Given the description of an element on the screen output the (x, y) to click on. 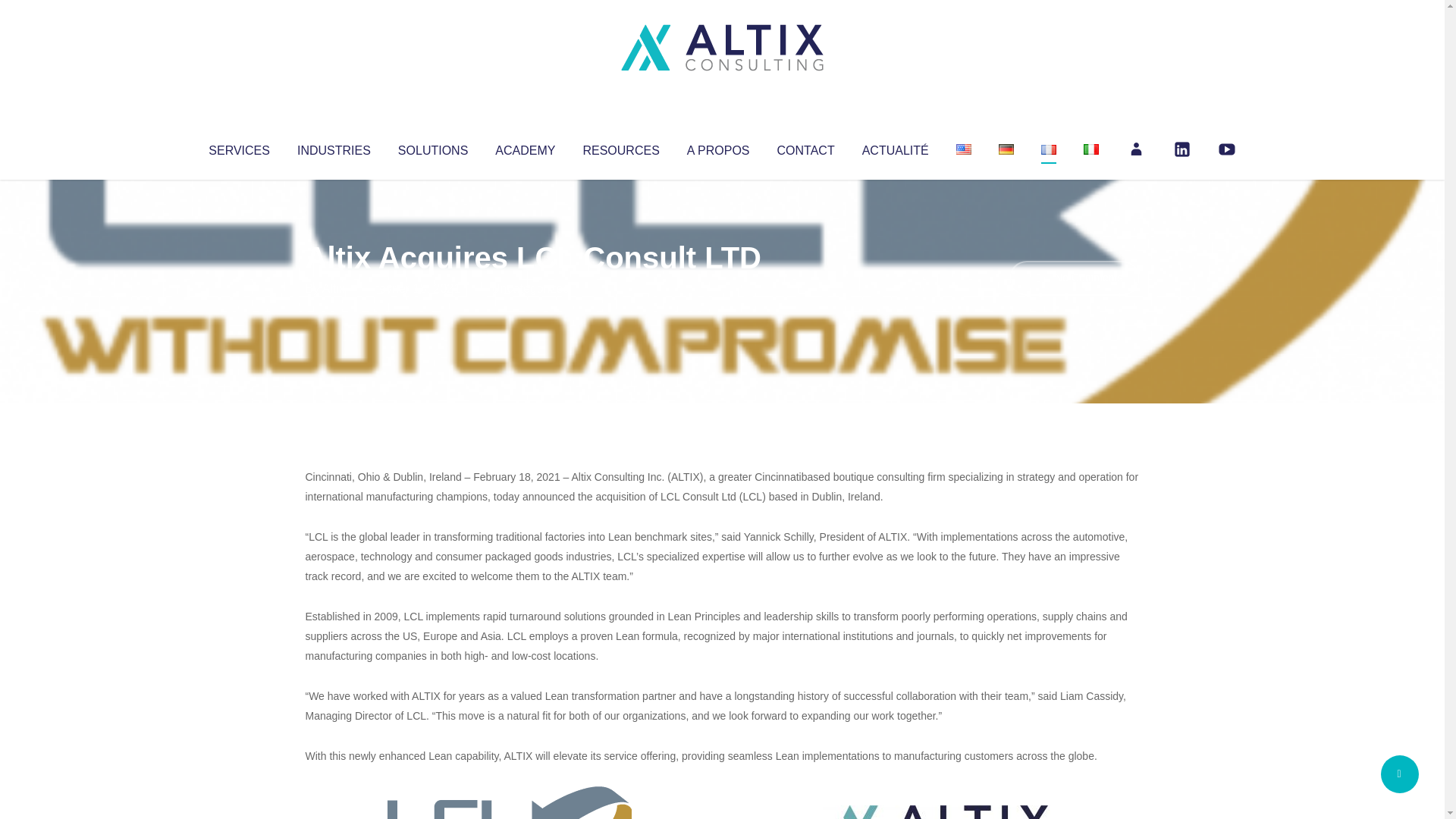
A PROPOS (718, 146)
SOLUTIONS (432, 146)
SERVICES (238, 146)
Articles par Altix (333, 287)
ACADEMY (524, 146)
Altix (333, 287)
No Comments (1073, 278)
INDUSTRIES (334, 146)
Uncategorized (530, 287)
RESOURCES (620, 146)
